Given the description of an element on the screen output the (x, y) to click on. 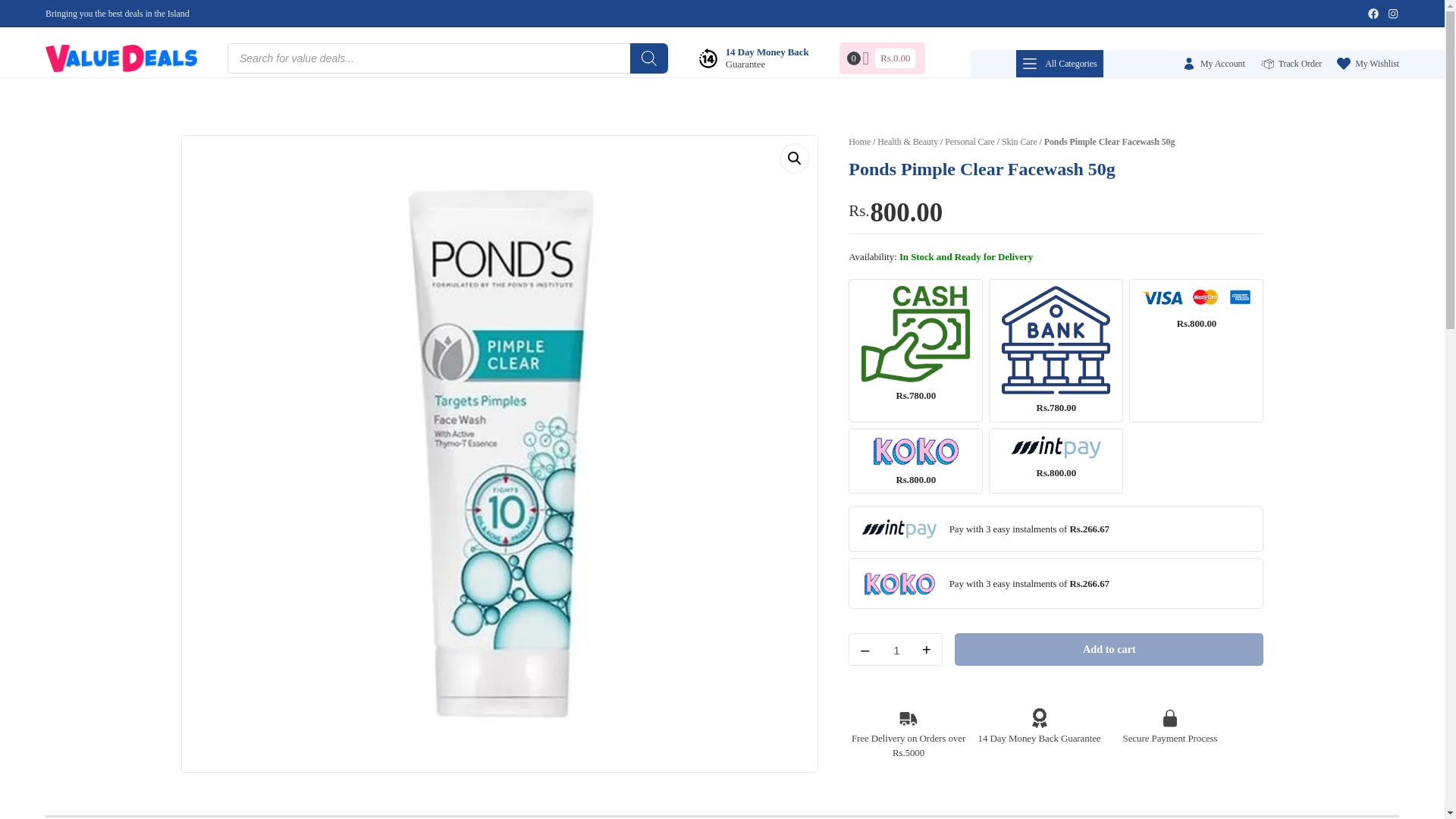
1 (896, 649)
Qty (896, 649)
Instagram (1393, 13)
All Categories (1059, 62)
Facebook (1372, 13)
